Given the description of an element on the screen output the (x, y) to click on. 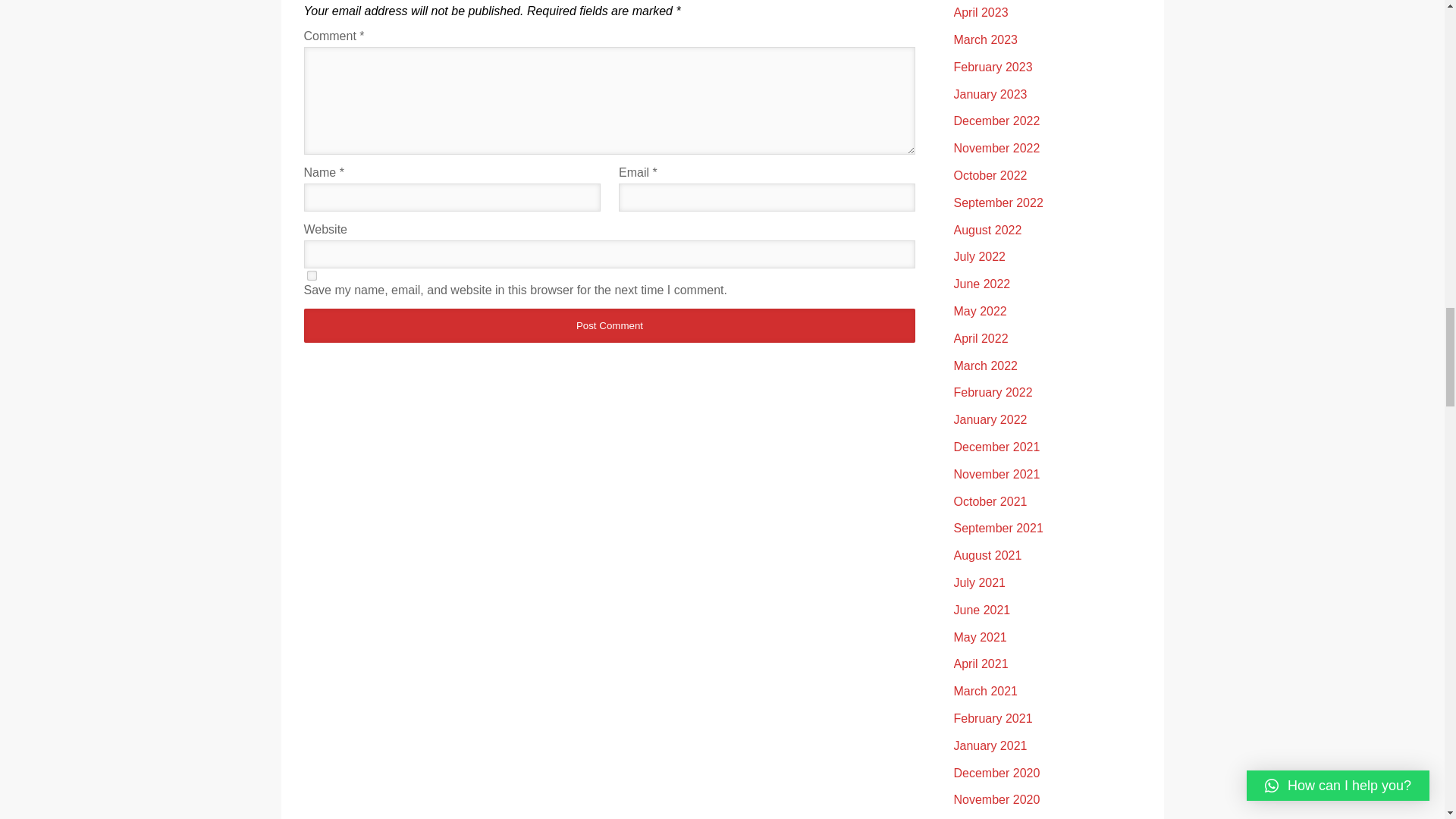
yes (310, 275)
Post Comment (608, 325)
